Given the description of an element on the screen output the (x, y) to click on. 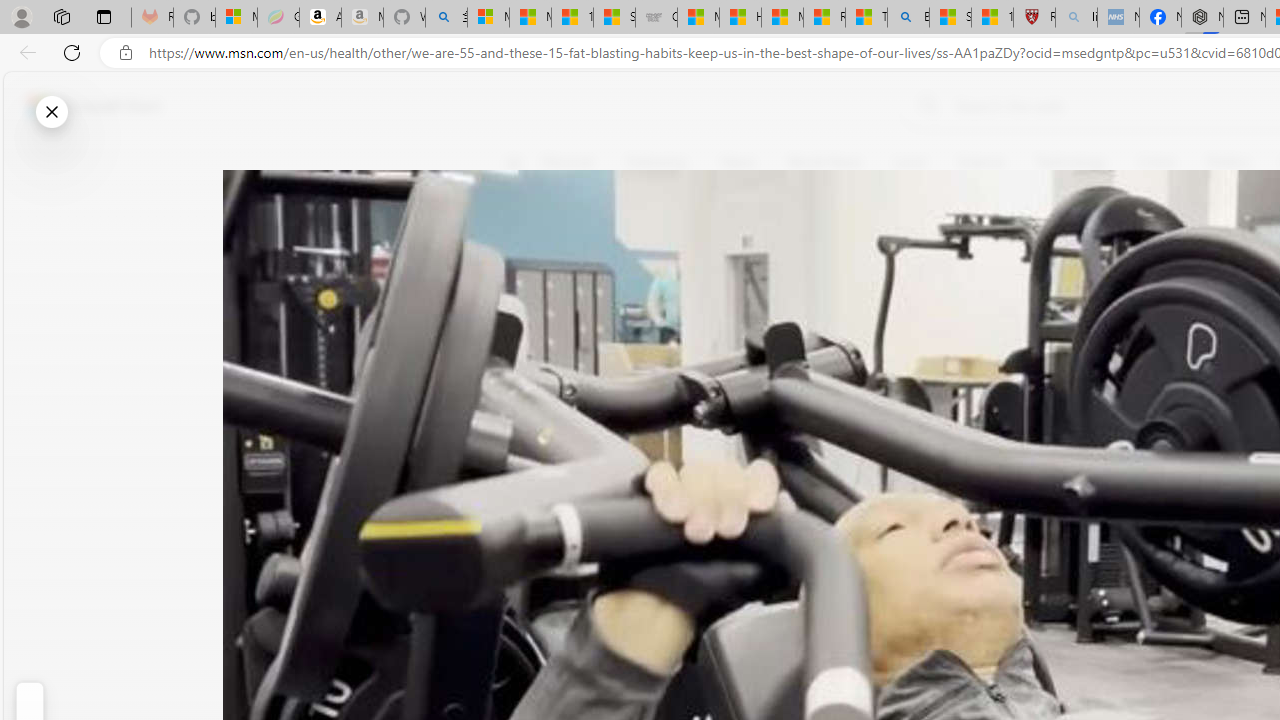
How I Got Rid of Microsoft Edge's Unnecessary Features (740, 17)
Robert H. Shmerling, MD - Harvard Health (1033, 17)
Follow (909, 258)
